Given the description of an element on the screen output the (x, y) to click on. 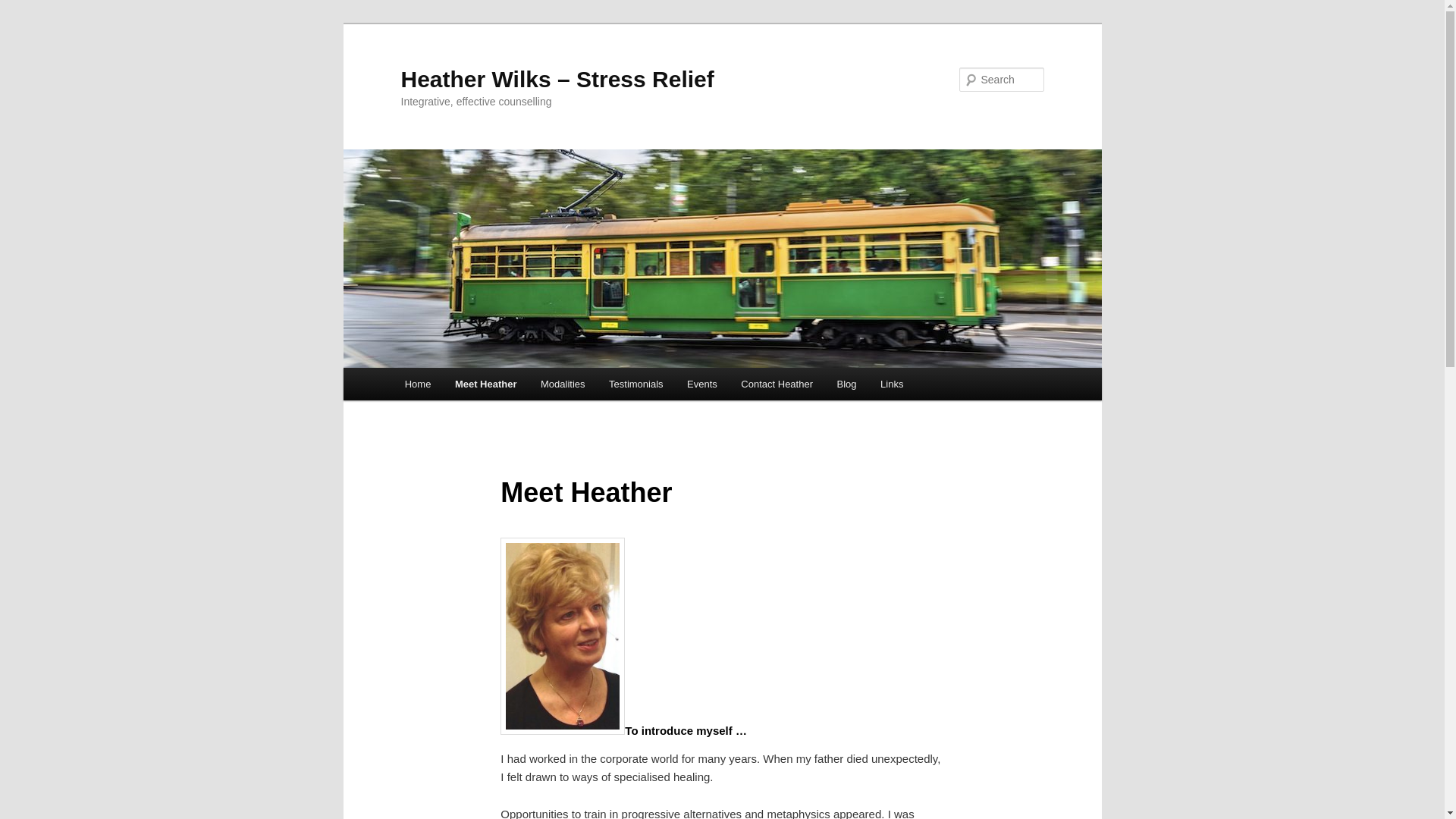
Blog (847, 383)
Testimonials (635, 383)
Contact Heather (777, 383)
Search (24, 8)
Modalities (562, 383)
Links (891, 383)
Events (702, 383)
Home (417, 383)
Meet Heather (485, 383)
